Given the description of an element on the screen output the (x, y) to click on. 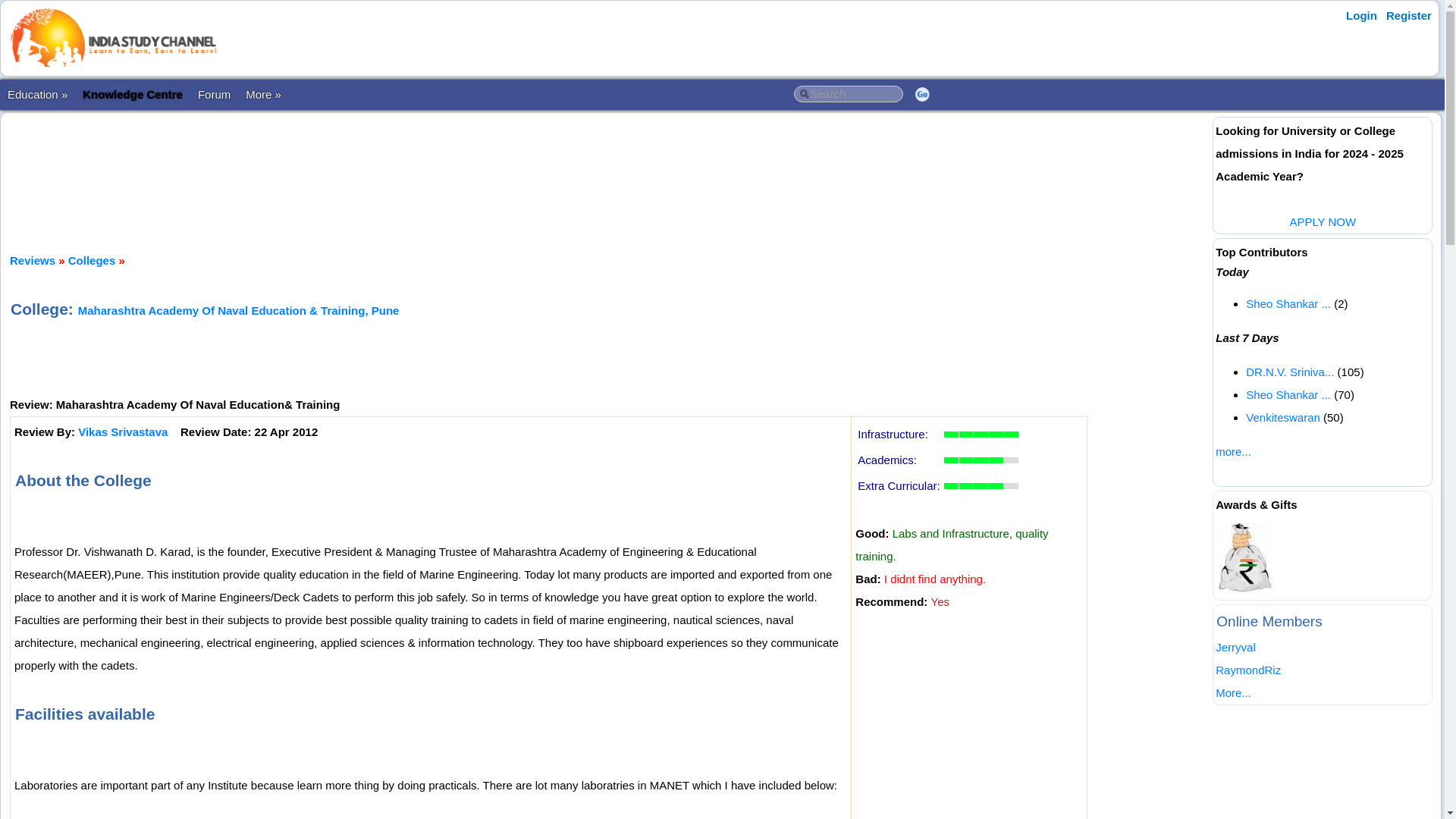
Search (847, 93)
Knowledge Centre (132, 94)
3rd party ad content (609, 169)
Sheo Shankar ... (1288, 394)
Forum (214, 94)
Search (847, 93)
Colleges (92, 259)
Vikas Srivastava (122, 431)
APPLY NOW (1321, 221)
Register (1409, 15)
